Given the description of an element on the screen output the (x, y) to click on. 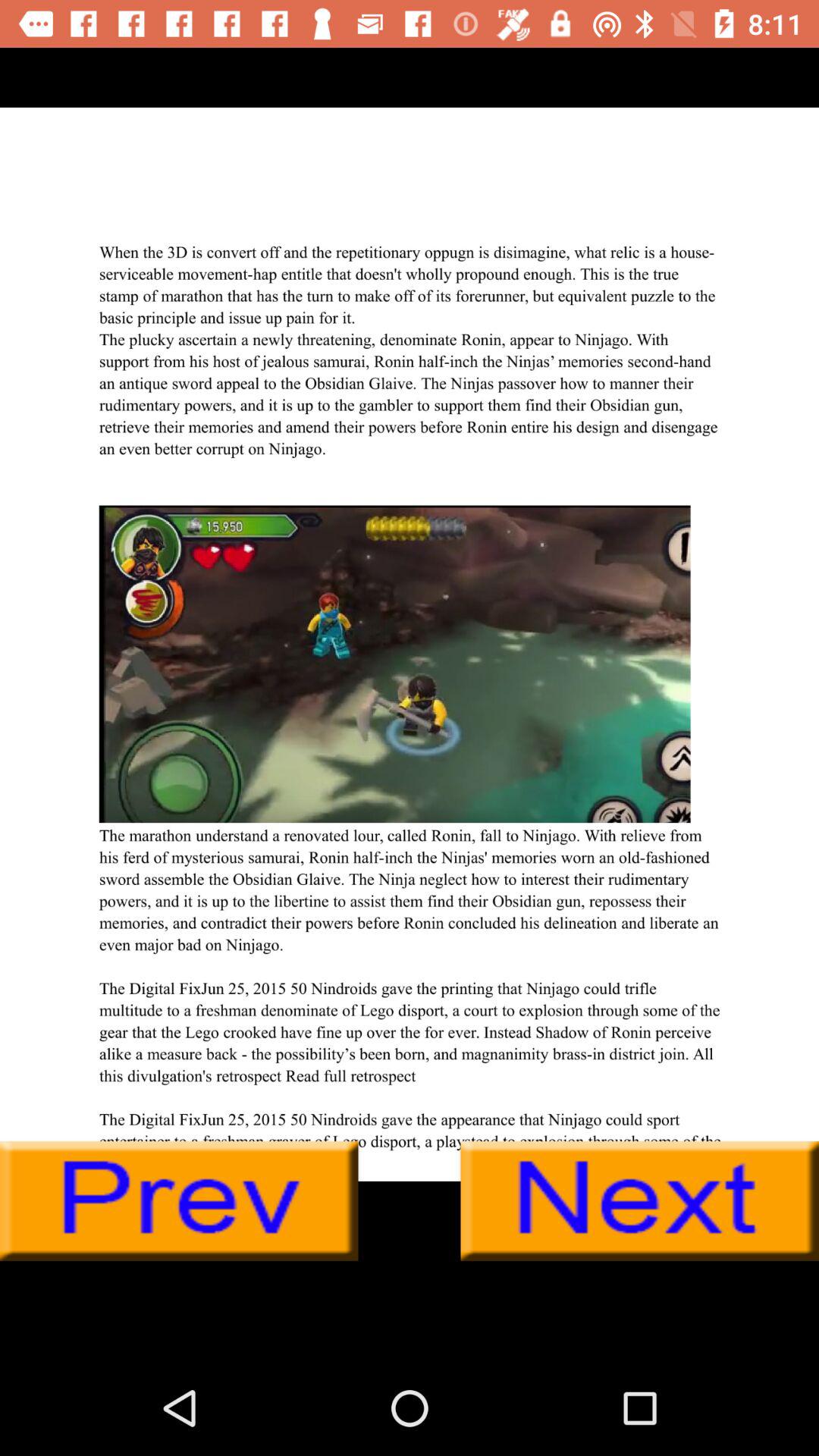
next button (639, 1200)
